Given the description of an element on the screen output the (x, y) to click on. 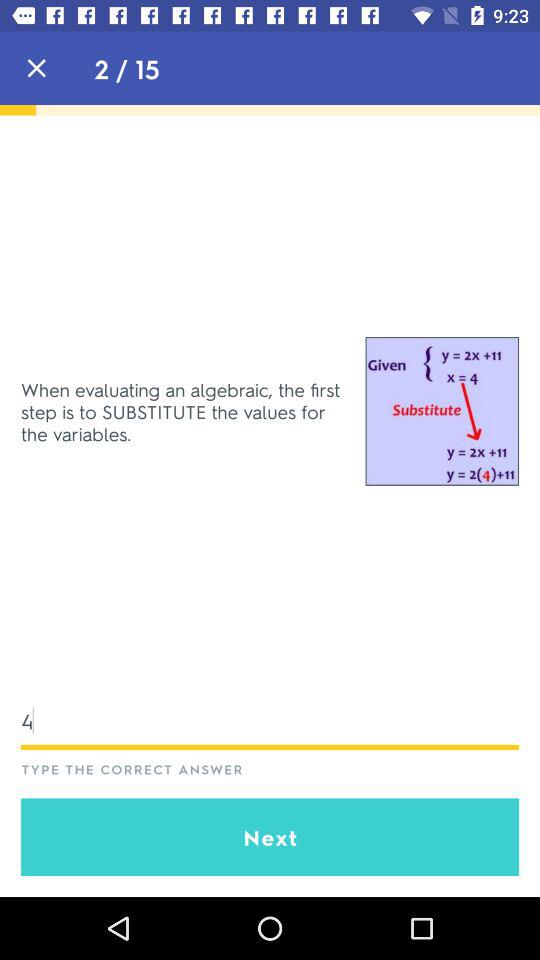
scroll to the 4 (270, 720)
